Given the description of an element on the screen output the (x, y) to click on. 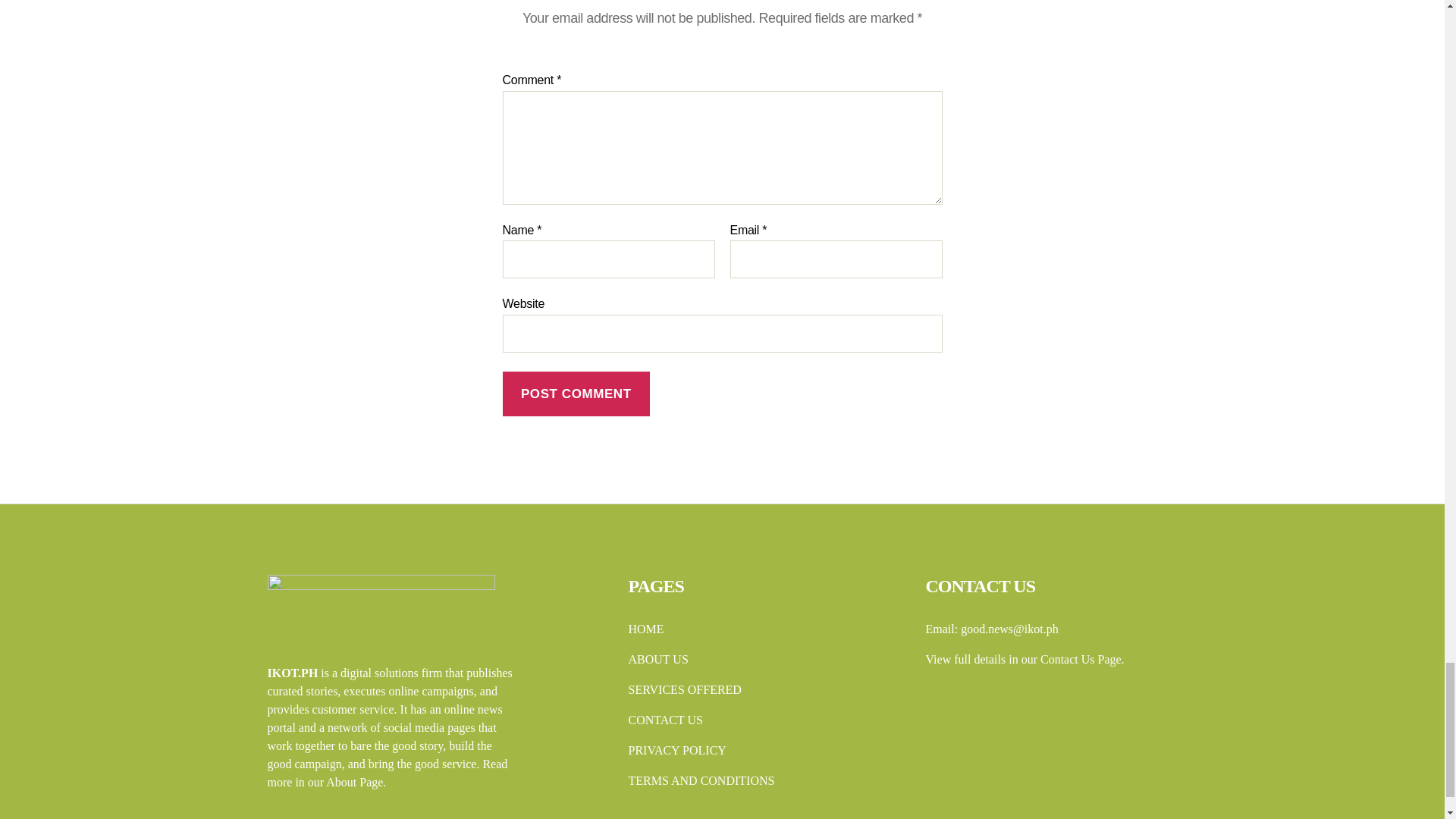
Post Comment (575, 393)
